Given the description of an element on the screen output the (x, y) to click on. 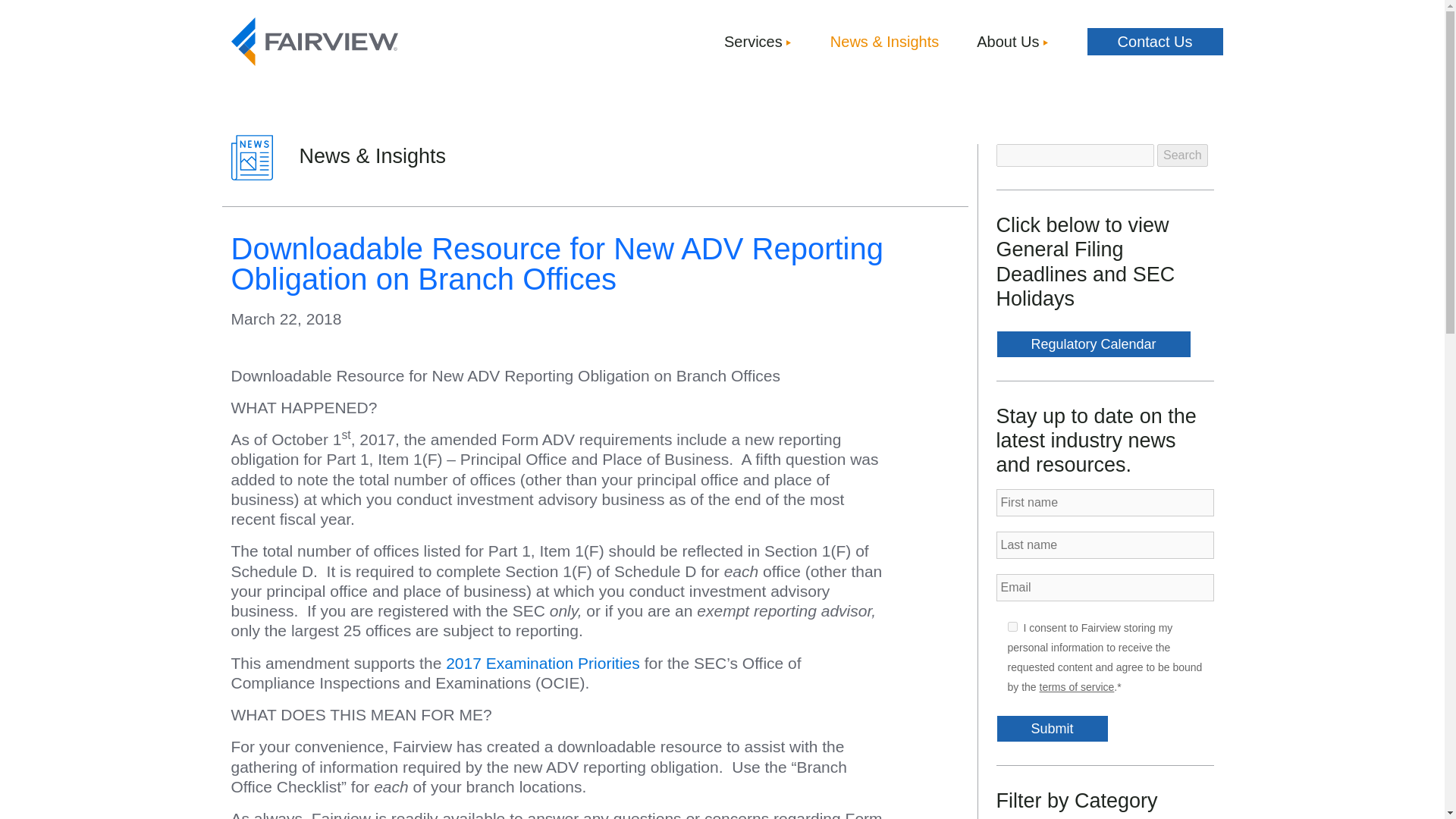
Services (757, 41)
Search (1182, 155)
Submit (1051, 728)
Contact Us (1155, 41)
About Us (1012, 41)
About Us (1012, 41)
terms of service (1077, 686)
Submit (1051, 728)
Services (757, 41)
Contact Us (1155, 41)
